Given the description of an element on the screen output the (x, y) to click on. 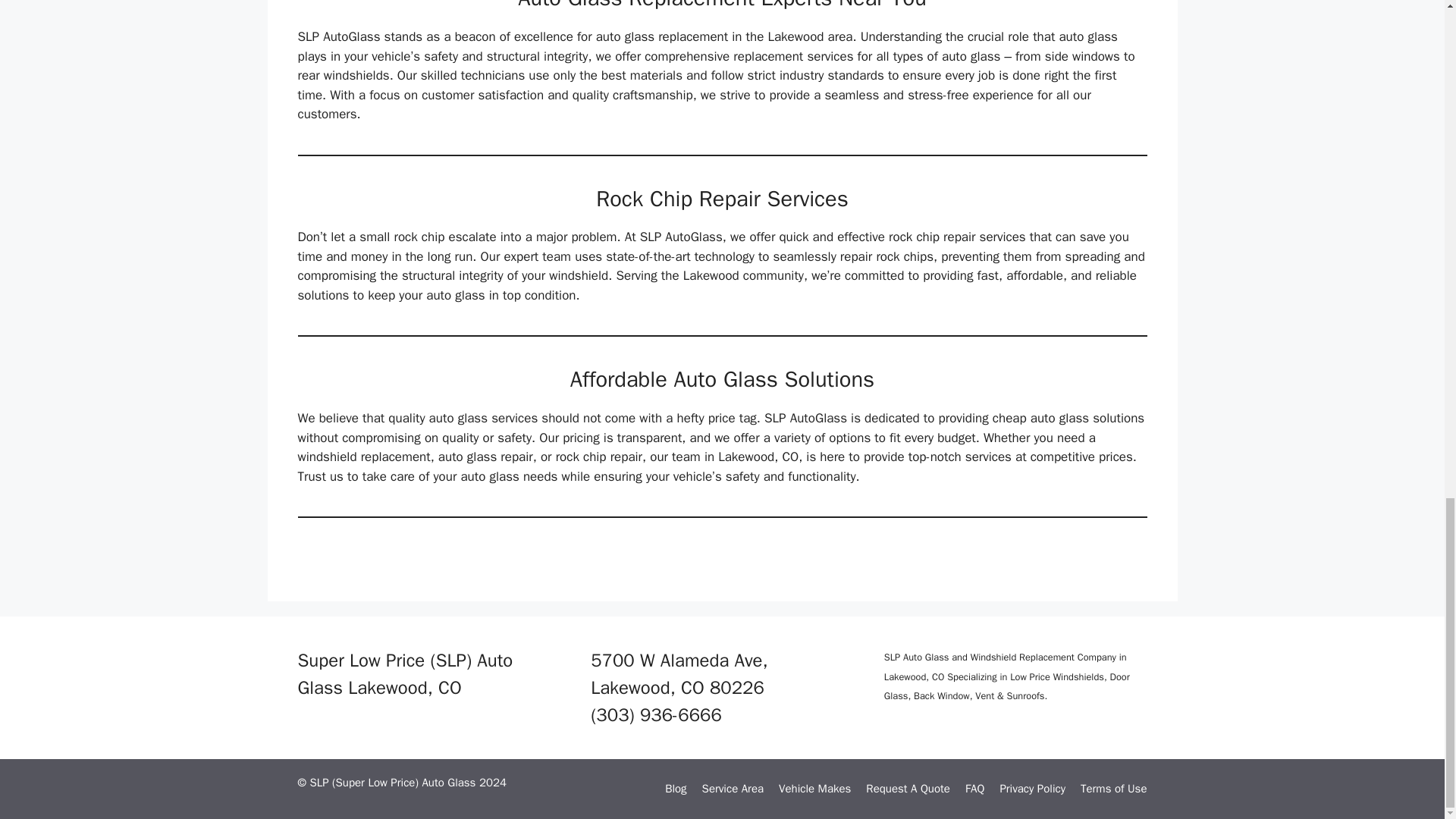
Terms of Use (1113, 788)
Vehicle Makes (814, 788)
Privacy Policy (1031, 788)
Service Area (731, 788)
Blog (675, 788)
Request A Quote (908, 788)
FAQ (974, 788)
